Given the description of an element on the screen output the (x, y) to click on. 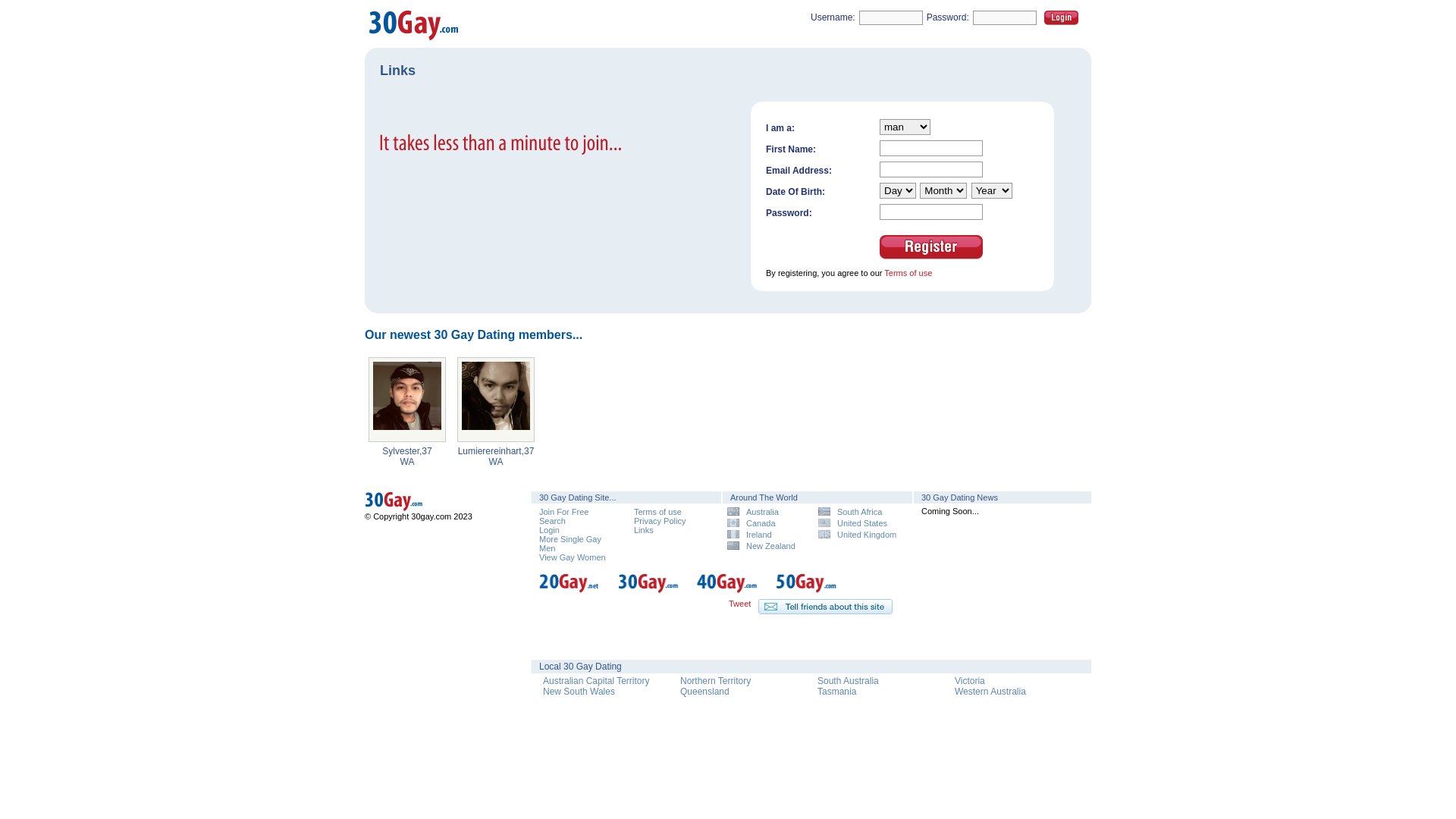
South Australia Element type: text (847, 680)
Sylvester, 37 from WA Element type: hover (406, 399)
Register Element type: text (930, 247)
Links Element type: text (643, 529)
Login Element type: text (549, 529)
Privacy Policy Element type: text (659, 520)
Victoria Element type: text (969, 680)
Tasmania Element type: text (836, 691)
40 Gay Dating - 40gay.com Element type: hover (727, 590)
Terms of use Element type: text (907, 272)
Lumierereinhart, 37 from WA Element type: hover (495, 399)
30 Gay Dating Element type: hover (413, 38)
Search Element type: text (552, 520)
Queensland Element type: text (704, 691)
Tell your friends about 30 Gay Dating Element type: text (825, 606)
United Kingdom Element type: text (857, 534)
20 Gay Dating - 20gay.net Element type: hover (569, 590)
Tweet Element type: text (739, 603)
New Zealand Element type: text (766, 545)
More Single Gay Men Element type: text (570, 543)
Australia Element type: text (766, 511)
United States Element type: text (857, 522)
Ireland Element type: text (766, 534)
Northern Territory Element type: text (715, 680)
View Gay Women Element type: text (572, 556)
Australian Capital Territory Element type: text (595, 680)
30 Gay Dating Australia Element type: hover (432, 508)
Join For Free Element type: text (563, 511)
Western Australia Element type: text (990, 691)
30 Gay Dating - 30gay.com Element type: hover (648, 590)
Canada Element type: text (766, 522)
30 Gay Dating Australia Element type: hover (432, 501)
50 Gay Dating - 50gay.com Element type: hover (806, 590)
Login Element type: text (1061, 17)
New South Wales Element type: text (578, 691)
Terms of use Element type: text (657, 511)
South Africa Element type: text (857, 511)
